Given the description of an element on the screen output the (x, y) to click on. 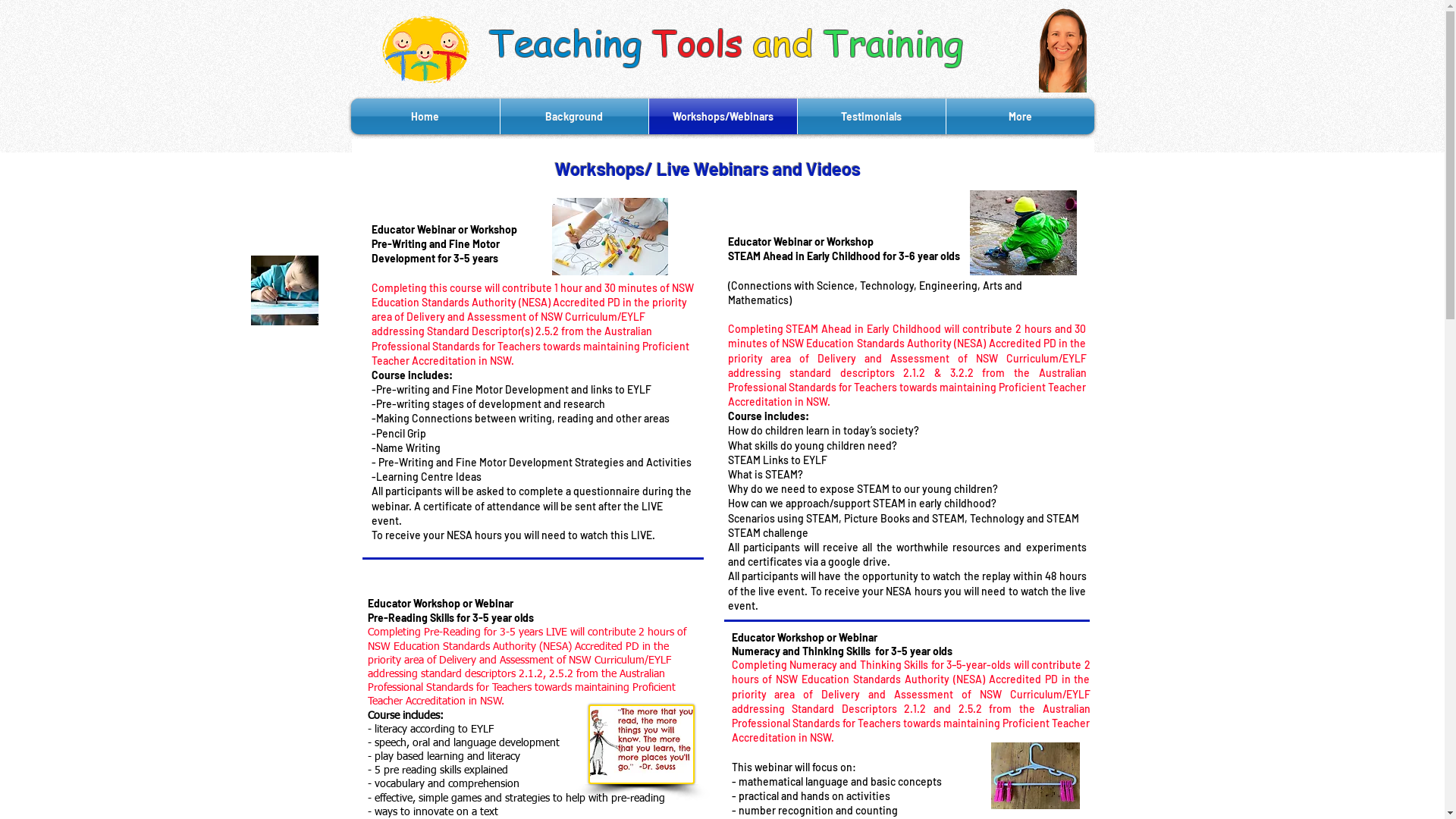
Workshops/Webinars Element type: text (723, 116)
kid-1350663_960_720.jpg Element type: hover (1022, 232)
DrSeuss.jpg Element type: hover (641, 744)
cotton wool.jpg Element type: hover (283, 290)
ttt_logowotitle_RGB.png Element type: hover (425, 49)
Testimonials Element type: text (871, 116)
Background Element type: text (574, 116)
38.jpg Element type: hover (1034, 775)
Home Element type: text (424, 116)
